Given the description of an element on the screen output the (x, y) to click on. 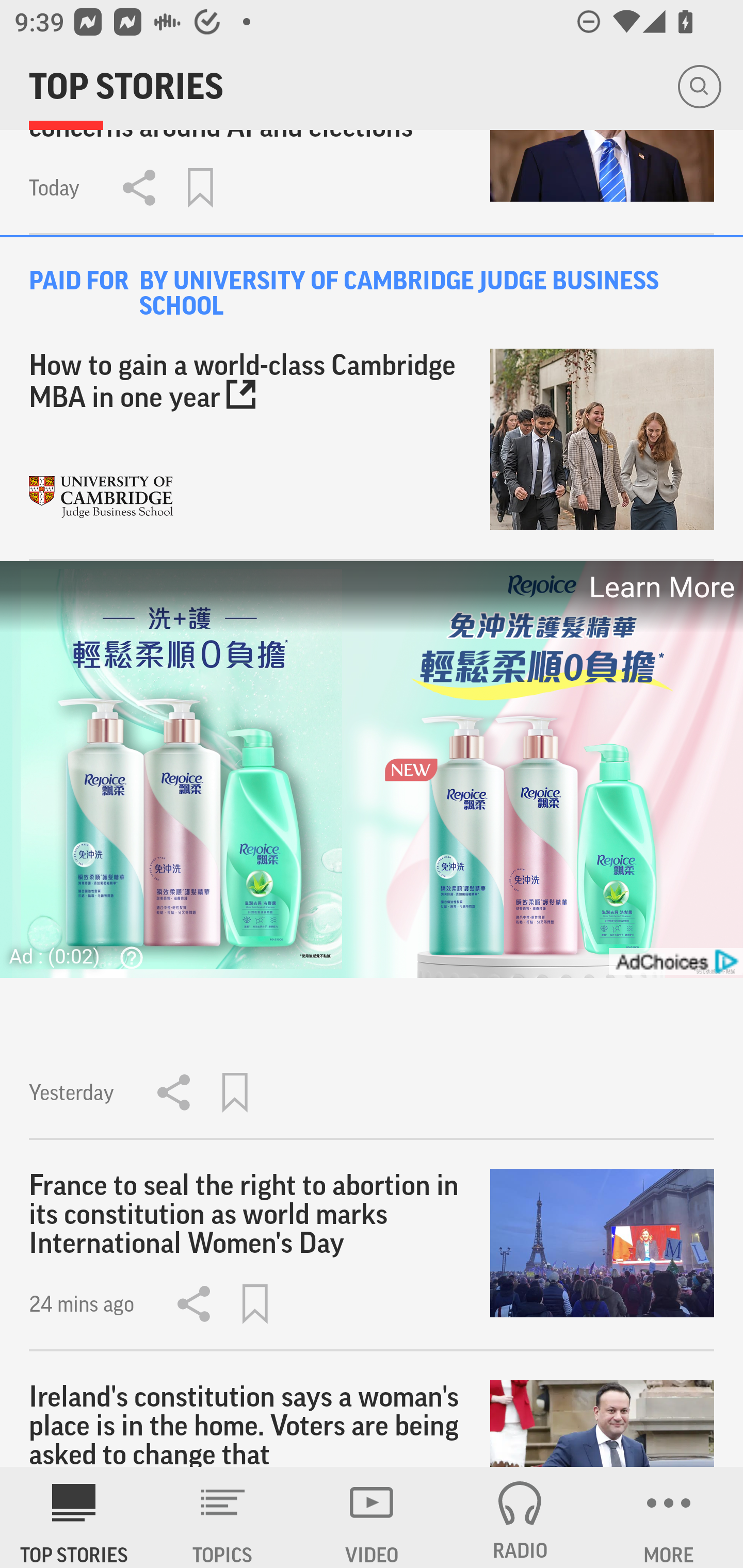
Learn More (660, 587)
Ad : (0:02) Why This Ad? (82, 955)
Why This Ad? (126, 956)
get?name=admarker-full-tl (675, 961)
AP News TOP STORIES (74, 1517)
TOPICS (222, 1517)
VIDEO (371, 1517)
RADIO (519, 1517)
MORE (668, 1517)
